Given the description of an element on the screen output the (x, y) to click on. 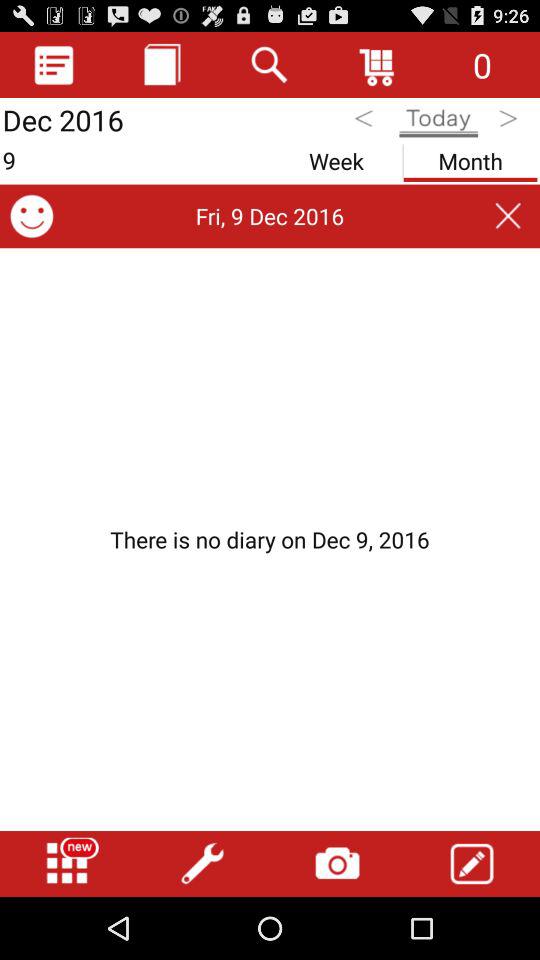
turn on icon next to the fri 9 dec (31, 215)
